Given the description of an element on the screen output the (x, y) to click on. 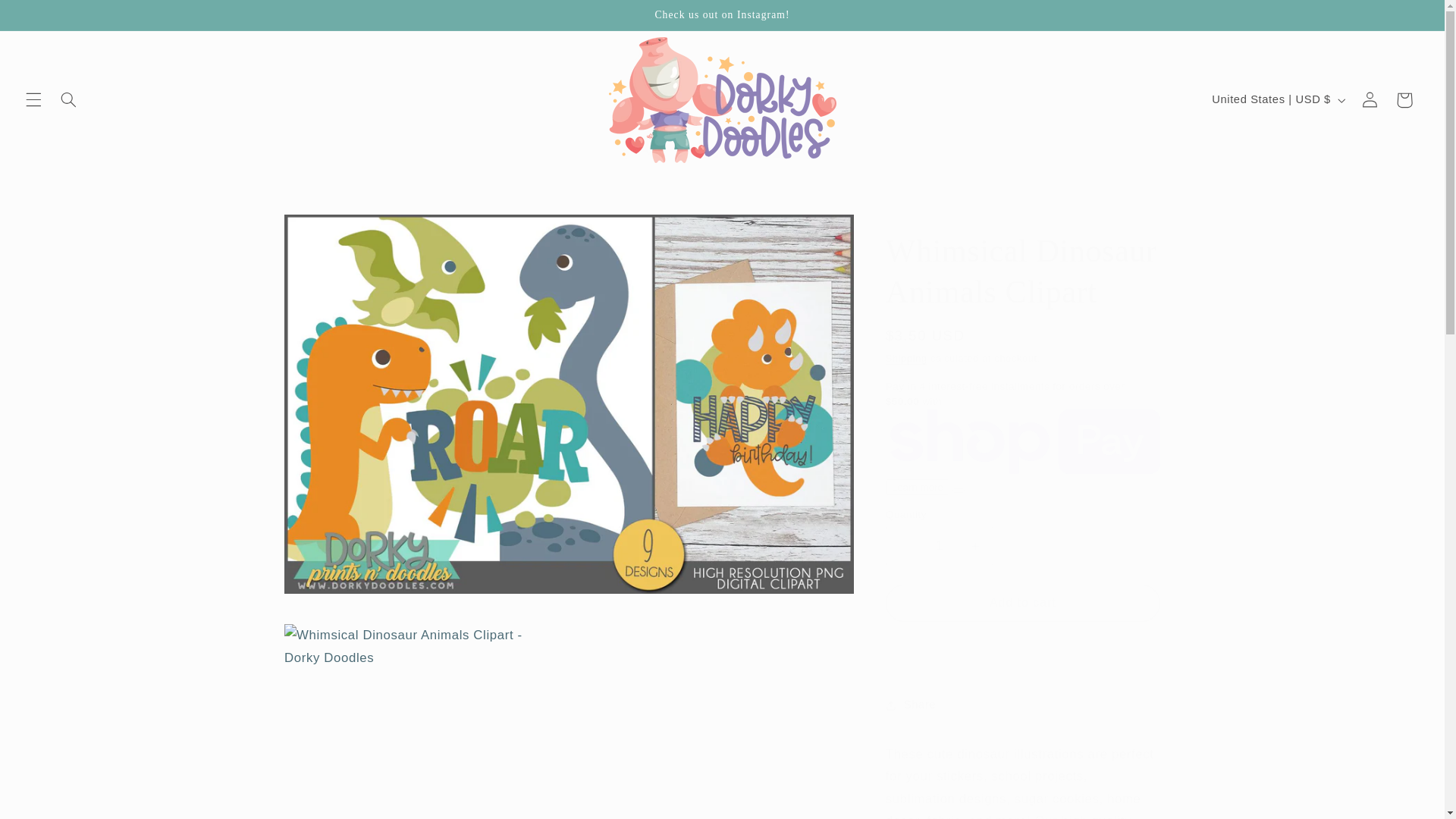
Open media 2 in modal (418, 713)
Skip to content (48, 18)
1 (939, 545)
